Given the description of an element on the screen output the (x, y) to click on. 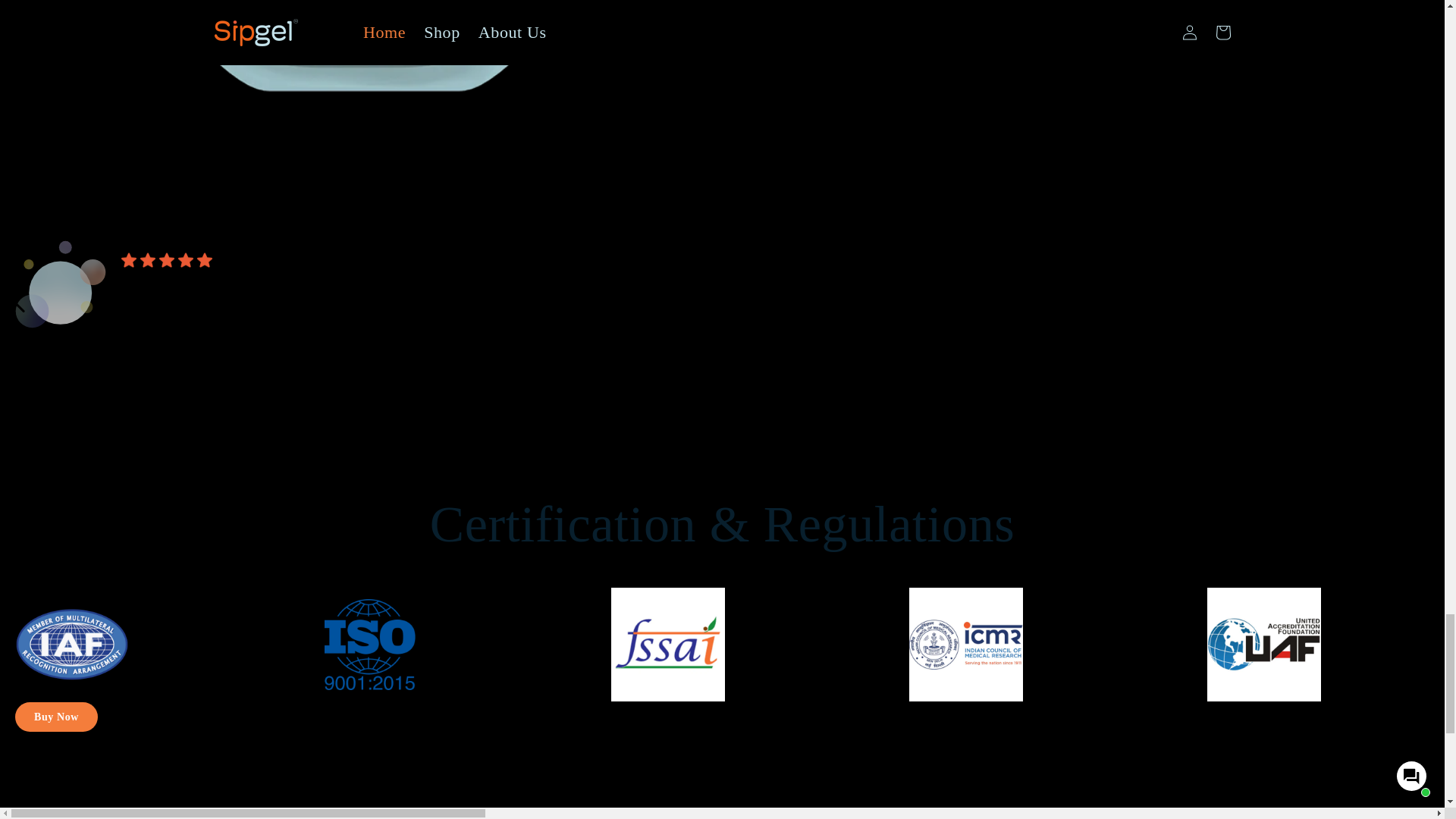
Buy Now (799, 5)
